Given the description of an element on the screen output the (x, y) to click on. 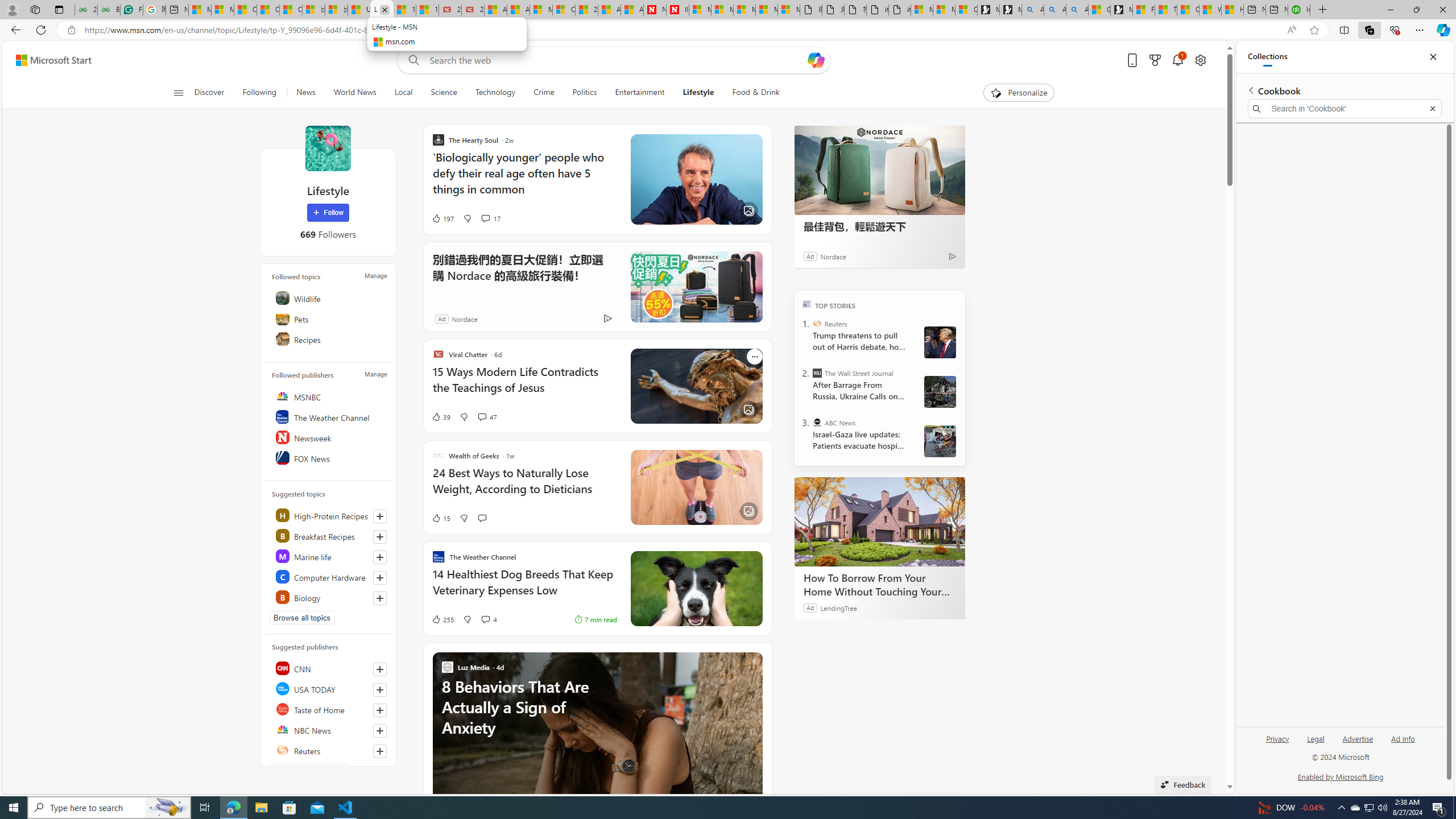
Copilot (Ctrl+Shift+.) (1442, 29)
Start the conversation (482, 517)
News (305, 92)
News (305, 92)
New Tab (1322, 9)
Nordace (464, 318)
Recipes (328, 339)
Lifestyle (697, 92)
Web search (411, 60)
View comments 47 Comment (487, 416)
Alabama high school quarterback dies - Search (1032, 9)
255 Like (442, 619)
